Given the description of an element on the screen output the (x, y) to click on. 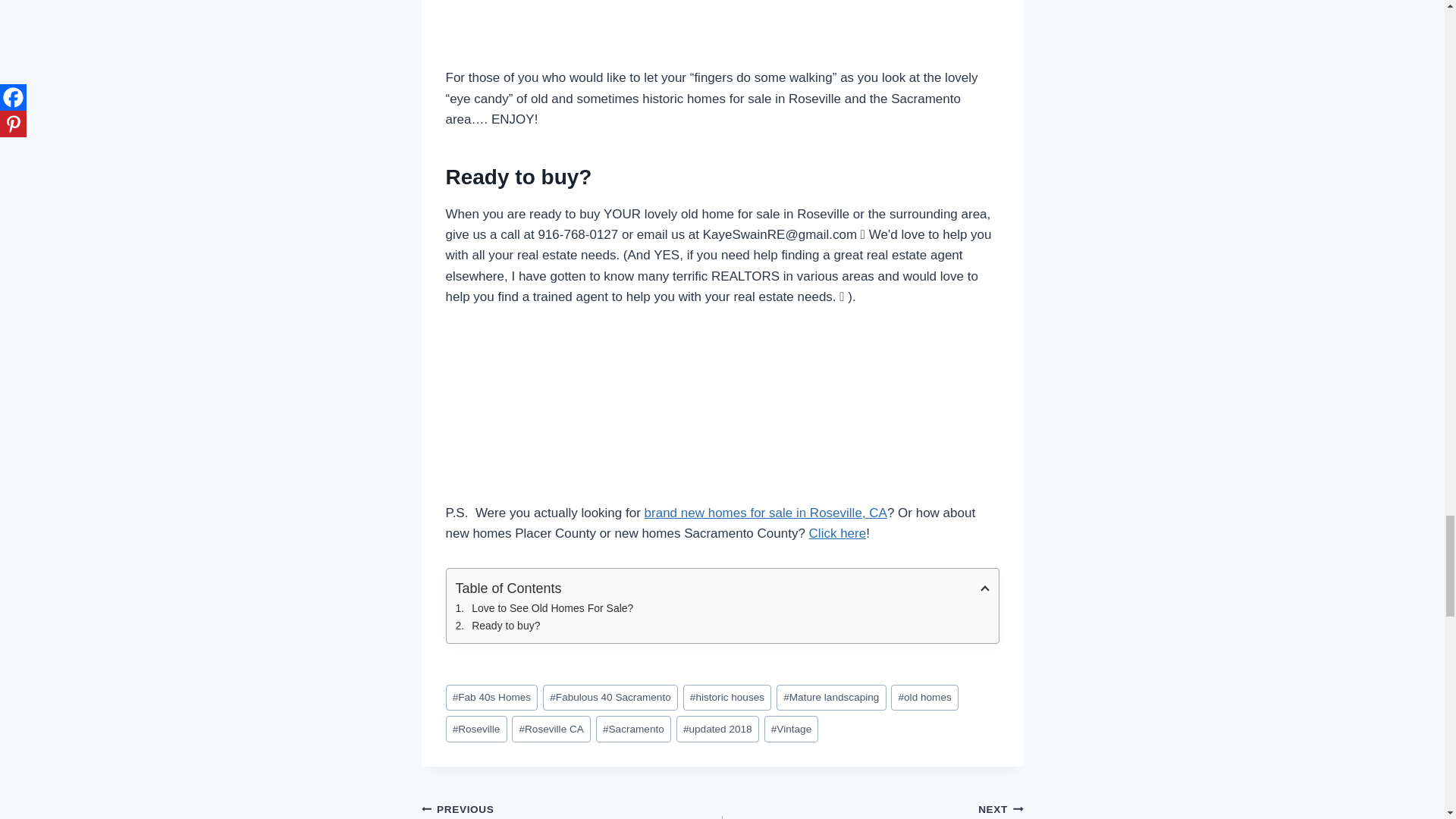
Mature landscaping (831, 697)
brand new homes for sale in Roseville, CA (765, 513)
Love to See Old Homes For Sale? (721, 607)
Ready to buy? (721, 625)
old homes (924, 697)
Fab 40s Homes (491, 697)
Click here (837, 533)
Fabulous 40 Sacramento (610, 697)
historic houses (726, 697)
